Given the description of an element on the screen output the (x, y) to click on. 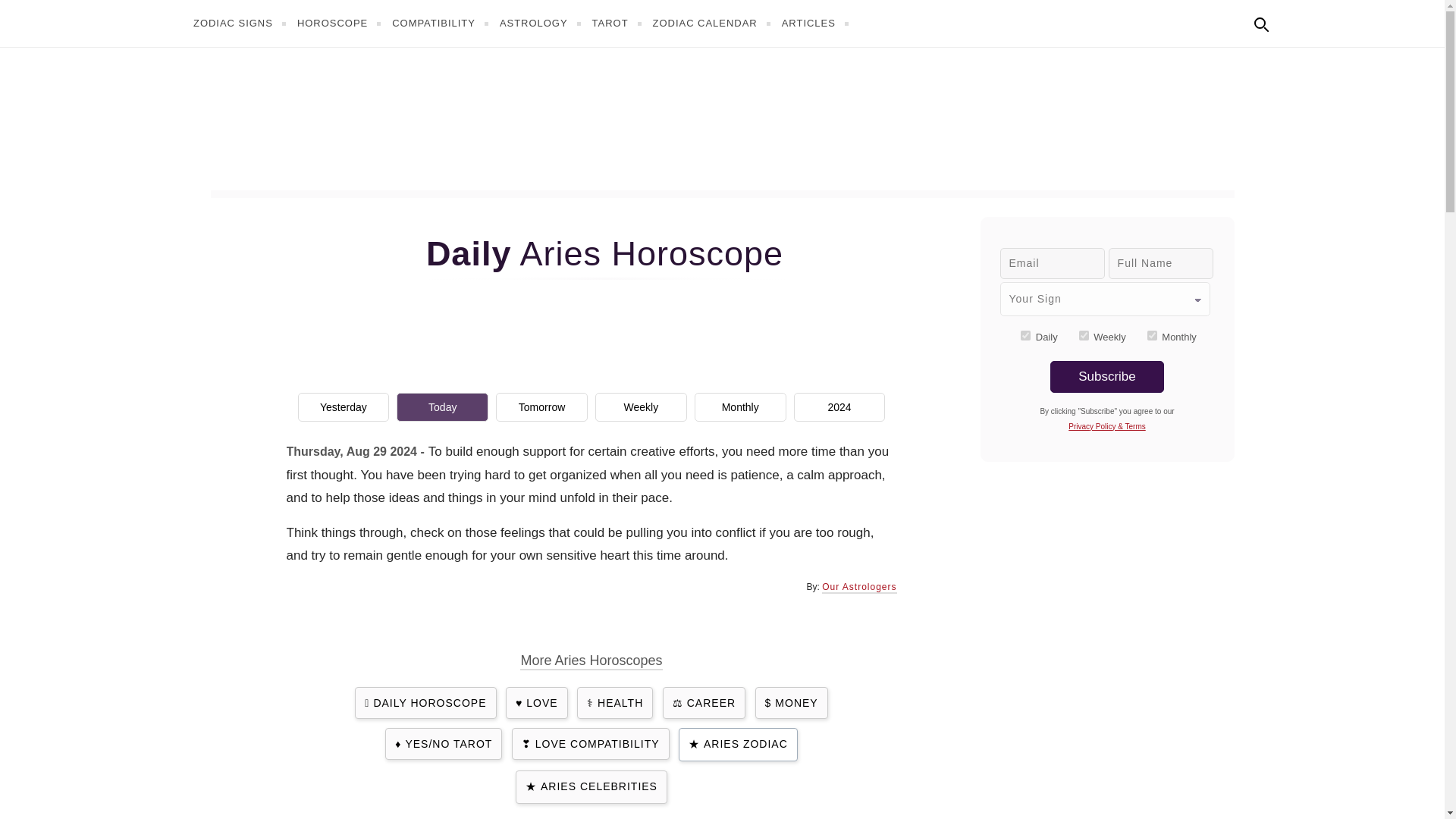
monthly (1152, 335)
In English (1294, 21)
HOROSCOPE (341, 23)
daily (1025, 335)
weekly (1083, 335)
ZODIAC SIGNS (241, 23)
